Given the description of an element on the screen output the (x, y) to click on. 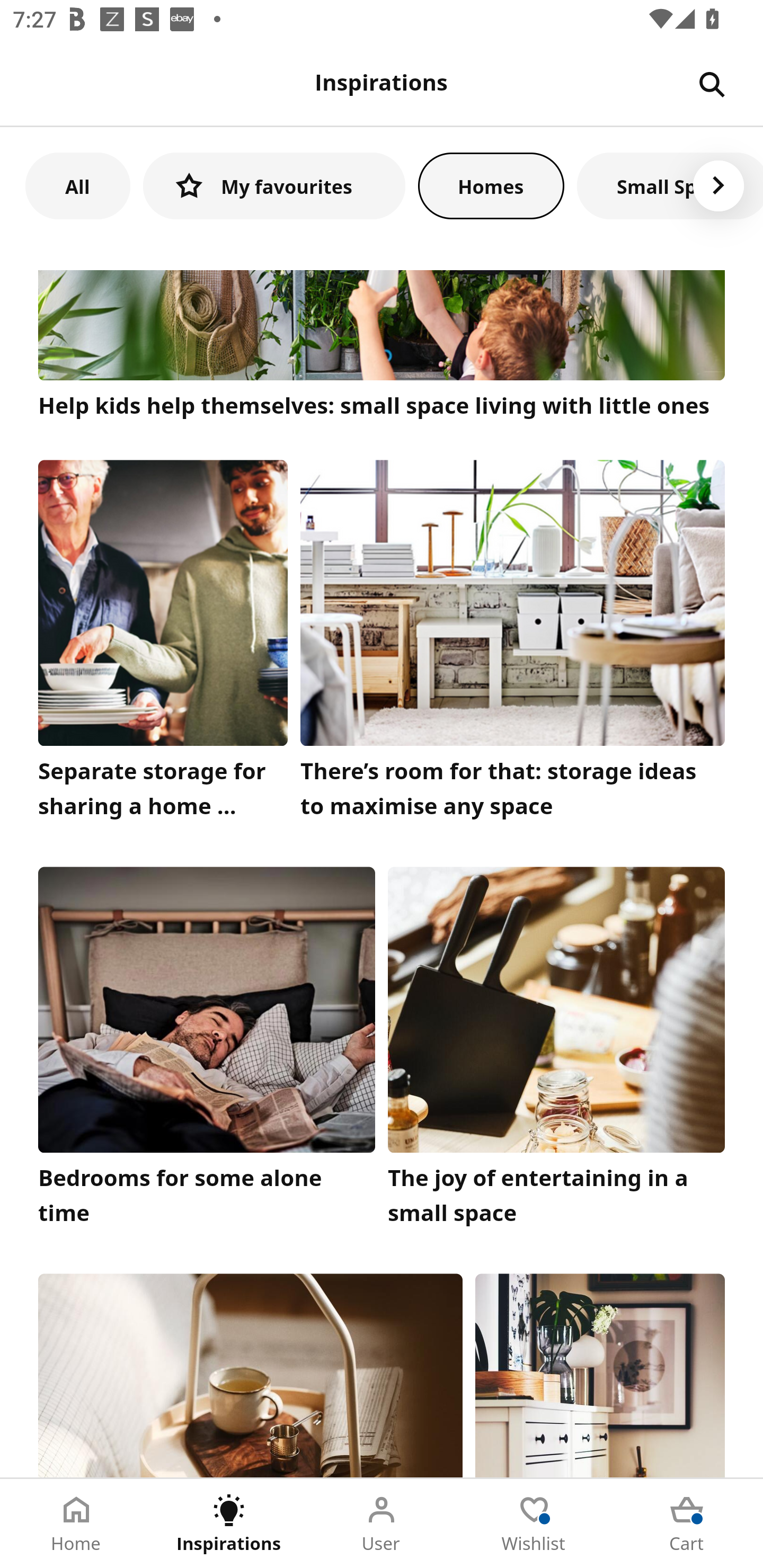
All (77, 185)
My favourites (274, 185)
Homes (491, 185)
Small Space (669, 185)
Separate storage for sharing a home successfully (162, 643)
Bedrooms for some alone time (206, 1051)
The joy of entertaining in a small space (555, 1051)
Home
Tab 1 of 5 (76, 1522)
Inspirations
Tab 2 of 5 (228, 1522)
User
Tab 3 of 5 (381, 1522)
Wishlist
Tab 4 of 5 (533, 1522)
Cart
Tab 5 of 5 (686, 1522)
